Given the description of an element on the screen output the (x, y) to click on. 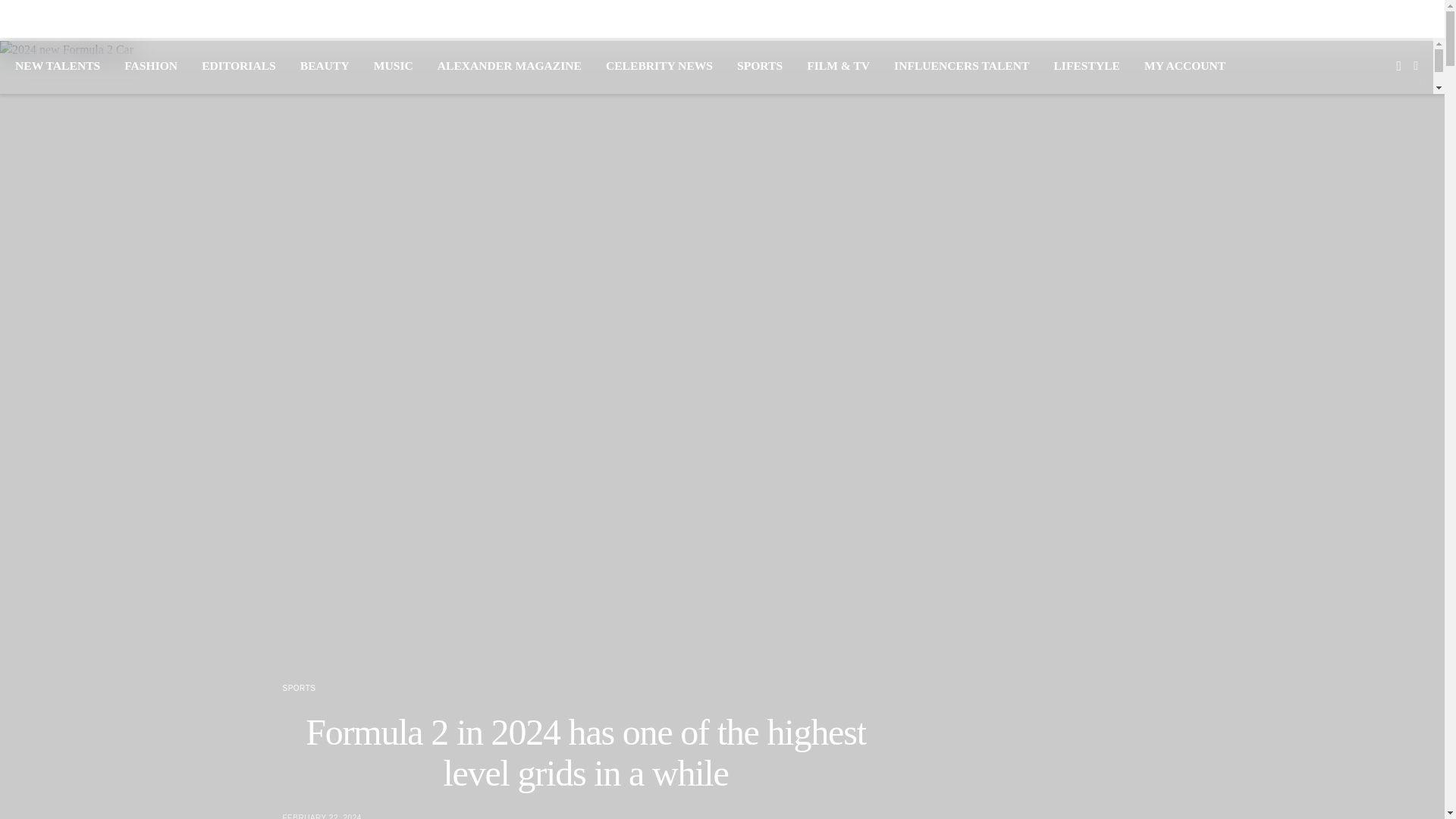
EDITORIALS (239, 65)
INFLUENCERS TALENT (961, 65)
FASHION (150, 65)
LIFESTYLE (1085, 65)
ALEXANDER MAGAZINE (509, 65)
MY ACCOUNT (1184, 65)
NEW TALENTS (57, 65)
SPORTS (298, 687)
BEAUTY (324, 65)
CELEBRITY NEWS (659, 65)
FEBRUARY 22, 2024 (321, 816)
